Given the description of an element on the screen output the (x, y) to click on. 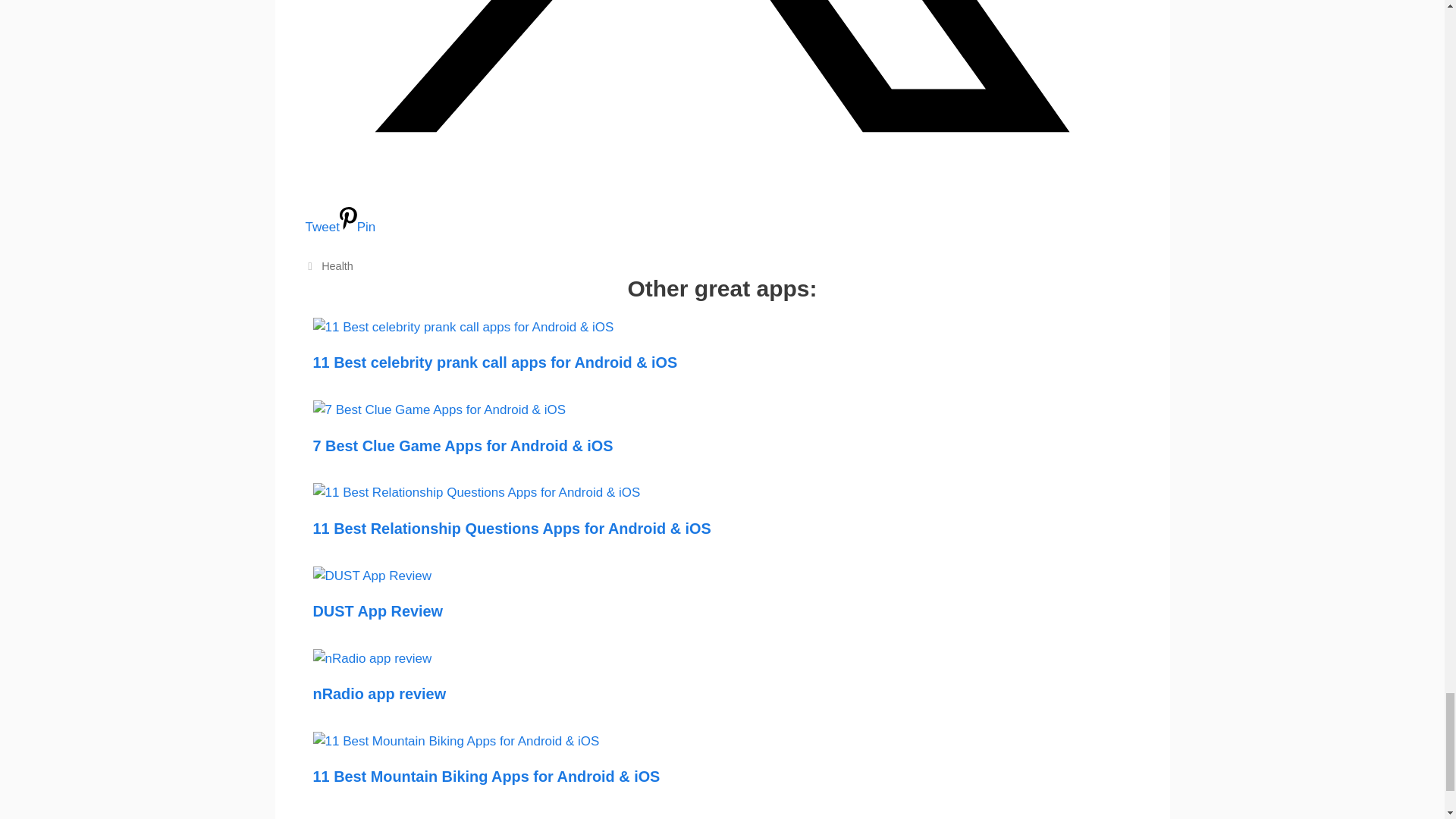
DUST App Review (371, 575)
nRadio app review (371, 658)
Share on Pinterest (357, 227)
Share on Twitter (721, 211)
